Given the description of an element on the screen output the (x, y) to click on. 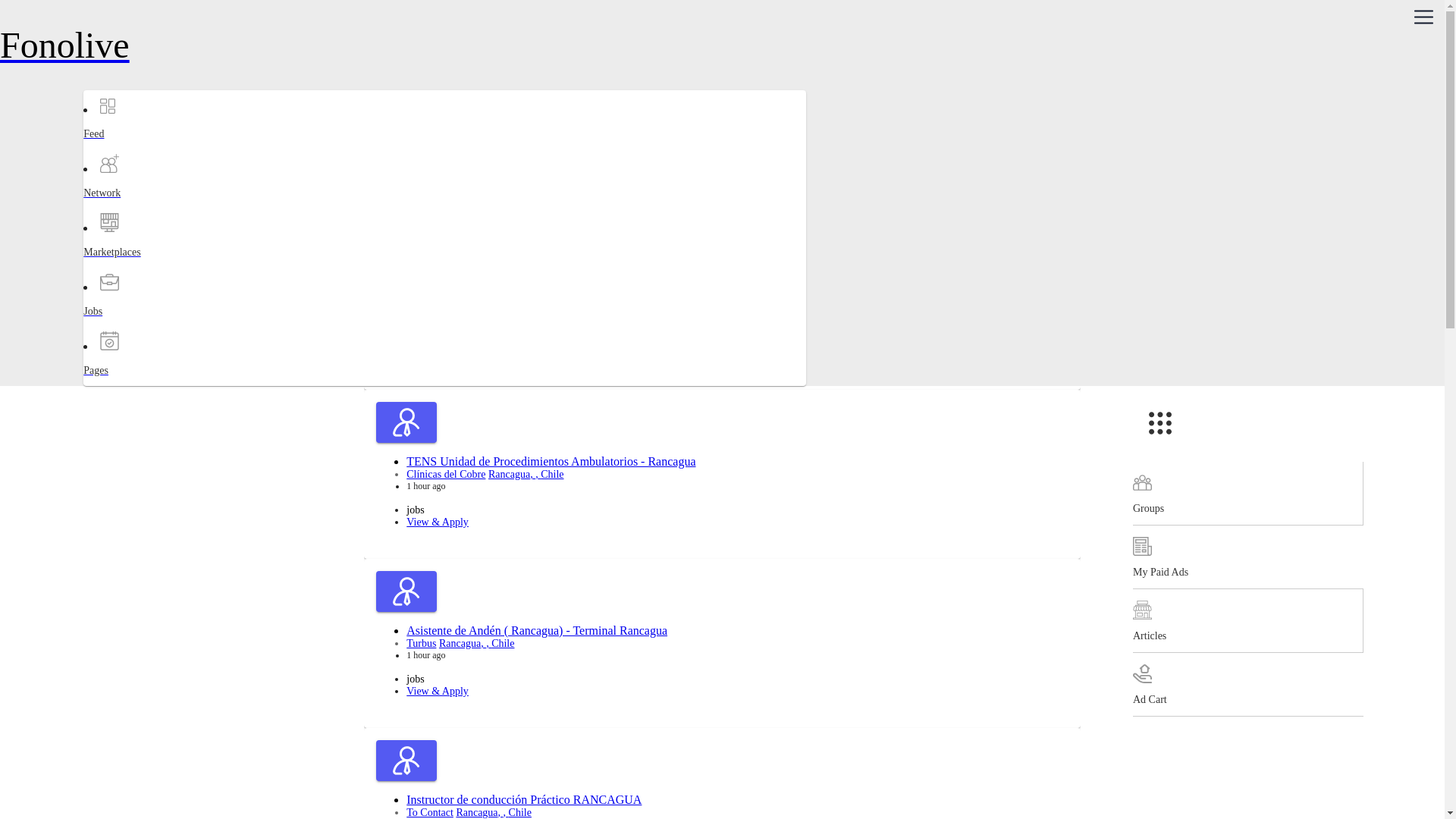
Marketplaces (142, 265)
Articles (1247, 620)
Network (142, 206)
Ingenieria Cmx Chile SpA (462, 305)
Rancagua, , Chile (477, 643)
Ad Cart (1247, 684)
My Paid Ads (1247, 556)
Rancagua, , Chile (525, 473)
Rancagua, , Chile (493, 812)
Turbus (420, 643)
To Contact (429, 812)
Groups (1247, 493)
TENS Unidad de Procedimientos Ambulatorios - Rancagua (550, 461)
Pages (142, 384)
Feed (142, 147)
